Given the description of an element on the screen output the (x, y) to click on. 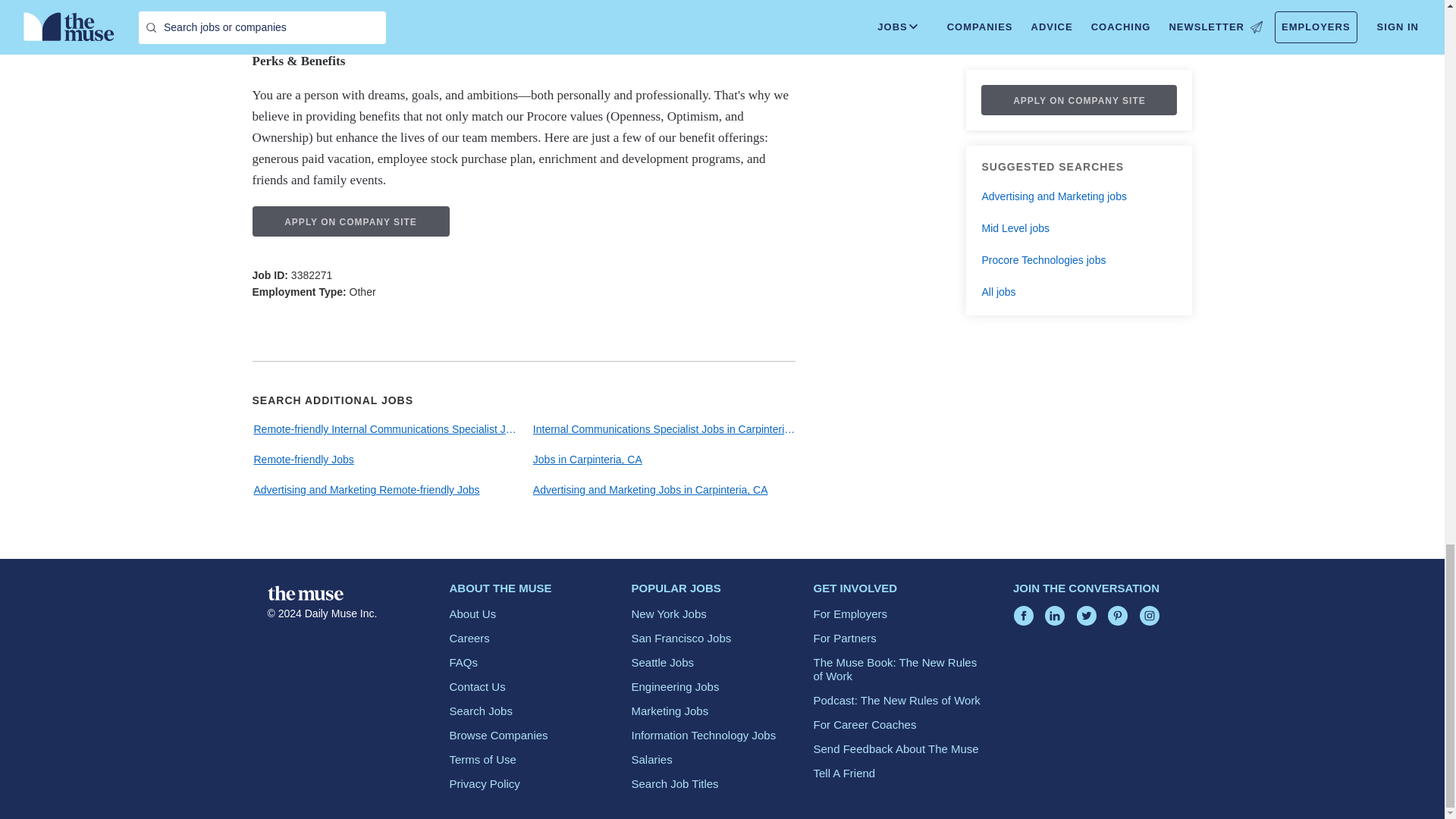
The Muse LogoA logo with "the muse" in white text. (304, 592)
